Given the description of an element on the screen output the (x, y) to click on. 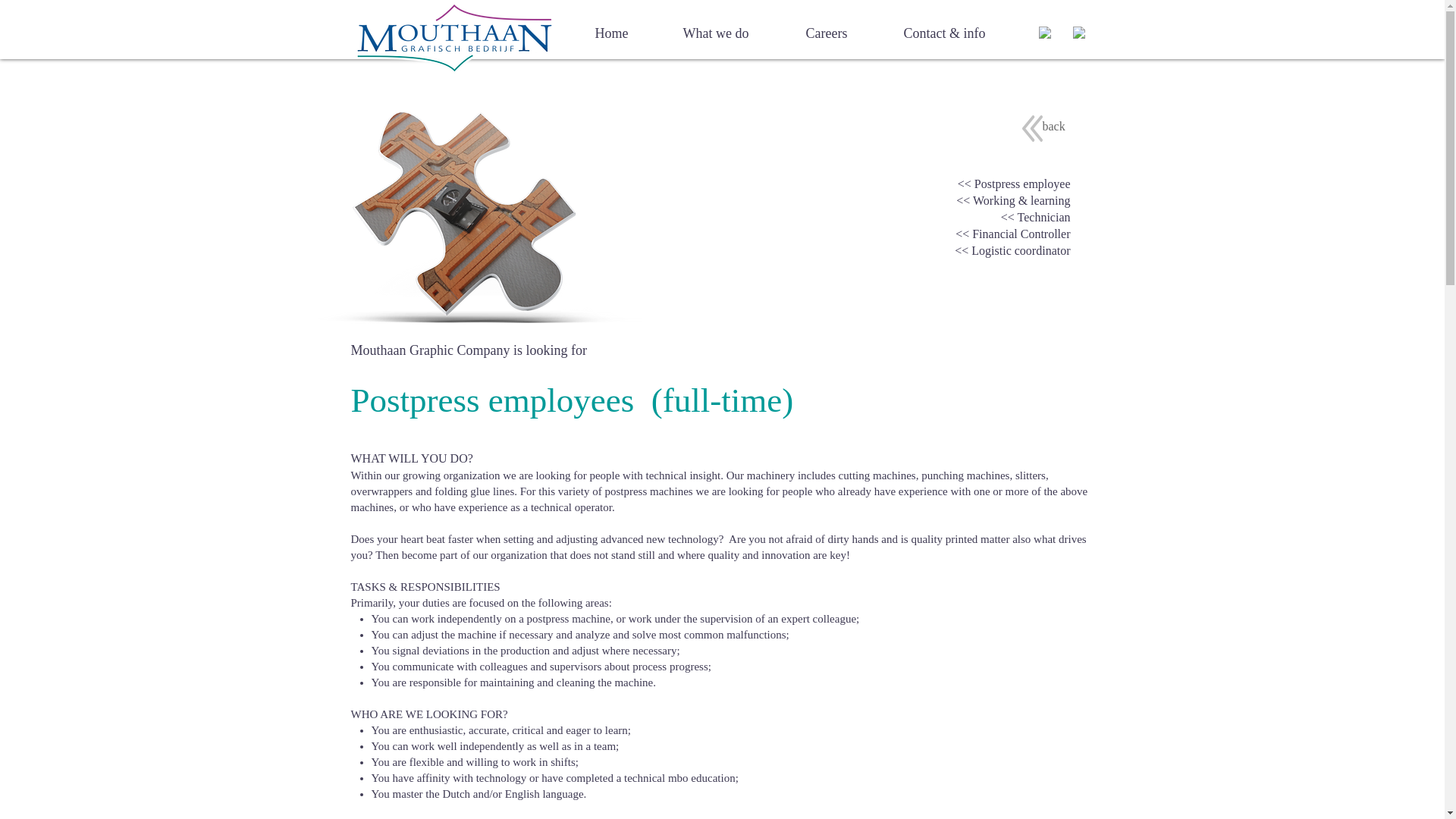
back (1053, 125)
Careers (826, 33)
Home (612, 33)
What we do (716, 33)
